Given the description of an element on the screen output the (x, y) to click on. 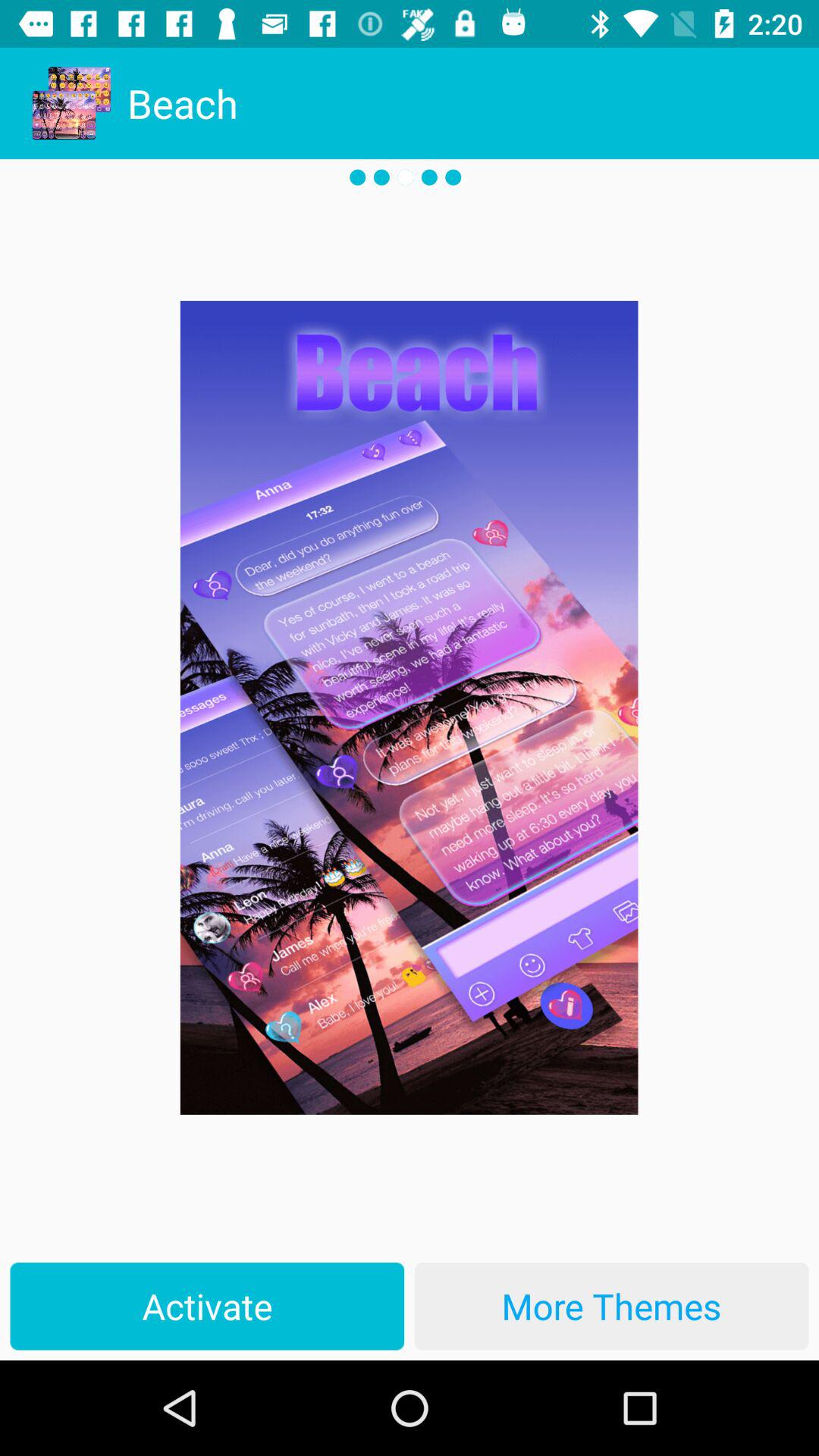
click the more themes at the bottom right corner (611, 1306)
